Given the description of an element on the screen output the (x, y) to click on. 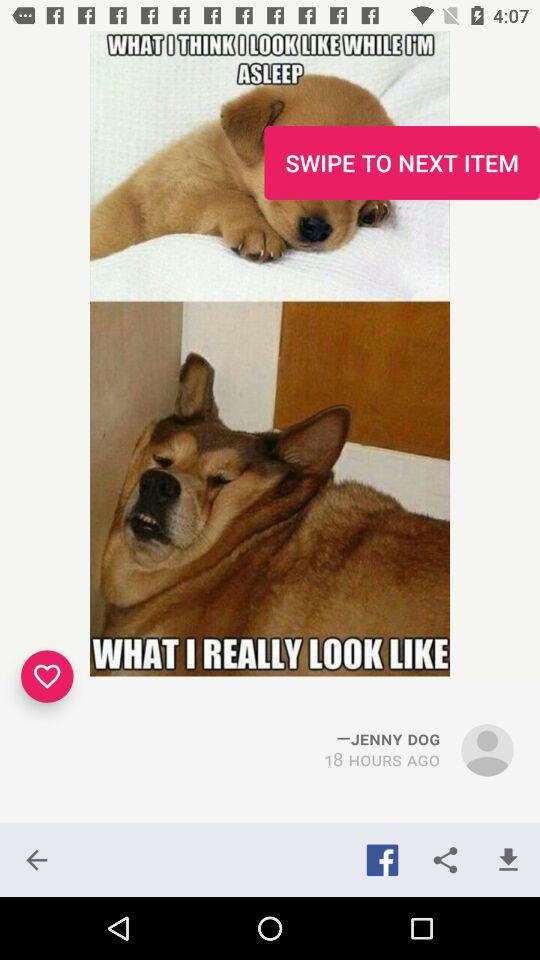
heart and save image (47, 676)
